Given the description of an element on the screen output the (x, y) to click on. 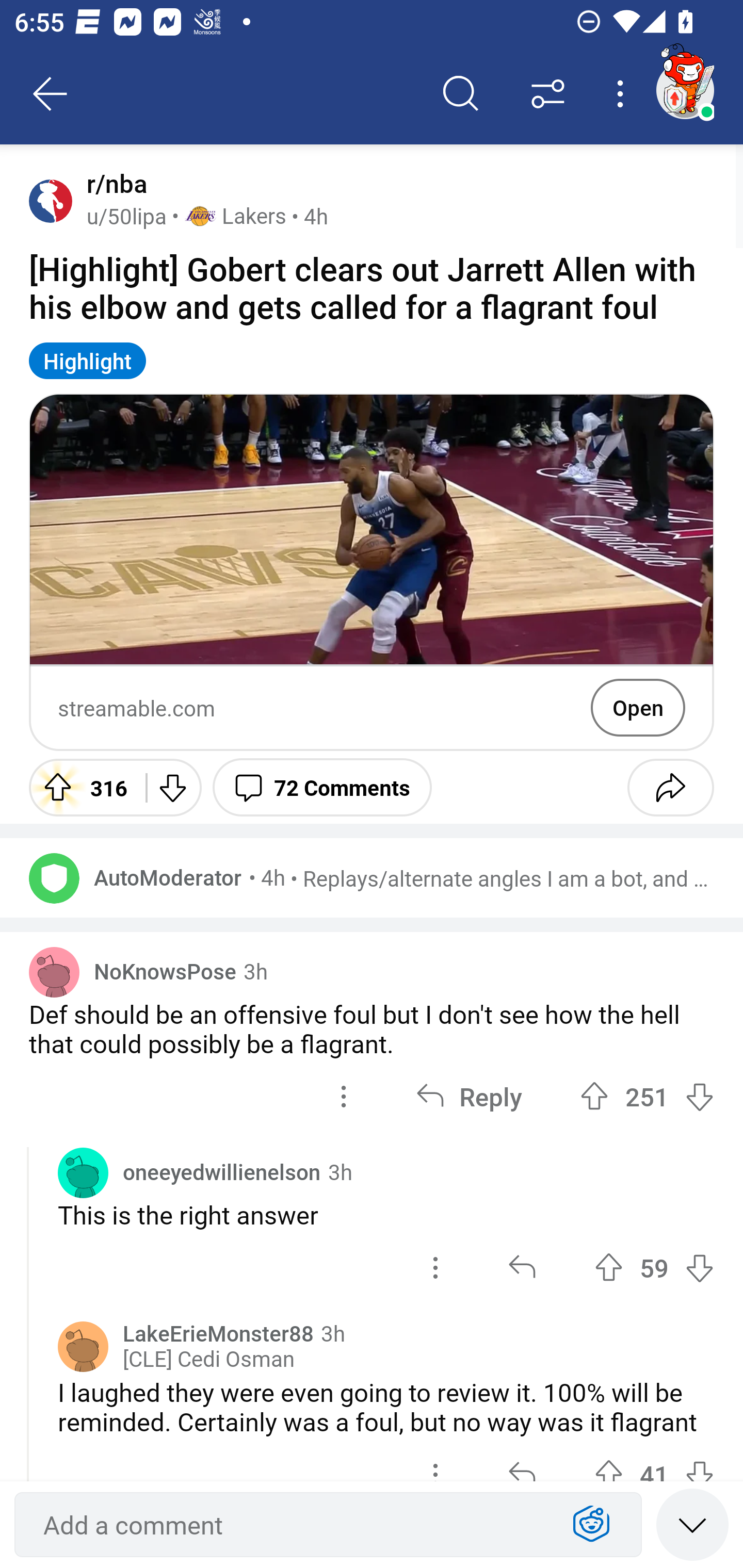
Back (50, 93)
TestAppium002 account (685, 90)
Search comments (460, 93)
Sort comments (547, 93)
More options (623, 93)
r/nba (113, 183)
Avatar (50, 200)
Highlight (87, 360)
Preview Image streamable.com Open (371, 572)
Open (637, 707)
Upvote 316 (79, 787)
Downvote (171, 787)
72 Comments (321, 787)
Share (670, 787)
Avatar (53, 877)
Avatar (53, 972)
options (343, 1095)
Reply (469, 1095)
Upvote 251 251 votes Downvote (647, 1095)
Avatar (82, 1172)
This is the right answer (385, 1214)
options (435, 1268)
Upvote 59 59 votes Downvote (654, 1268)
Avatar (82, 1346)
Speed read (692, 1524)
Add a comment (291, 1524)
Show Expressions (590, 1524)
